Given the description of an element on the screen output the (x, y) to click on. 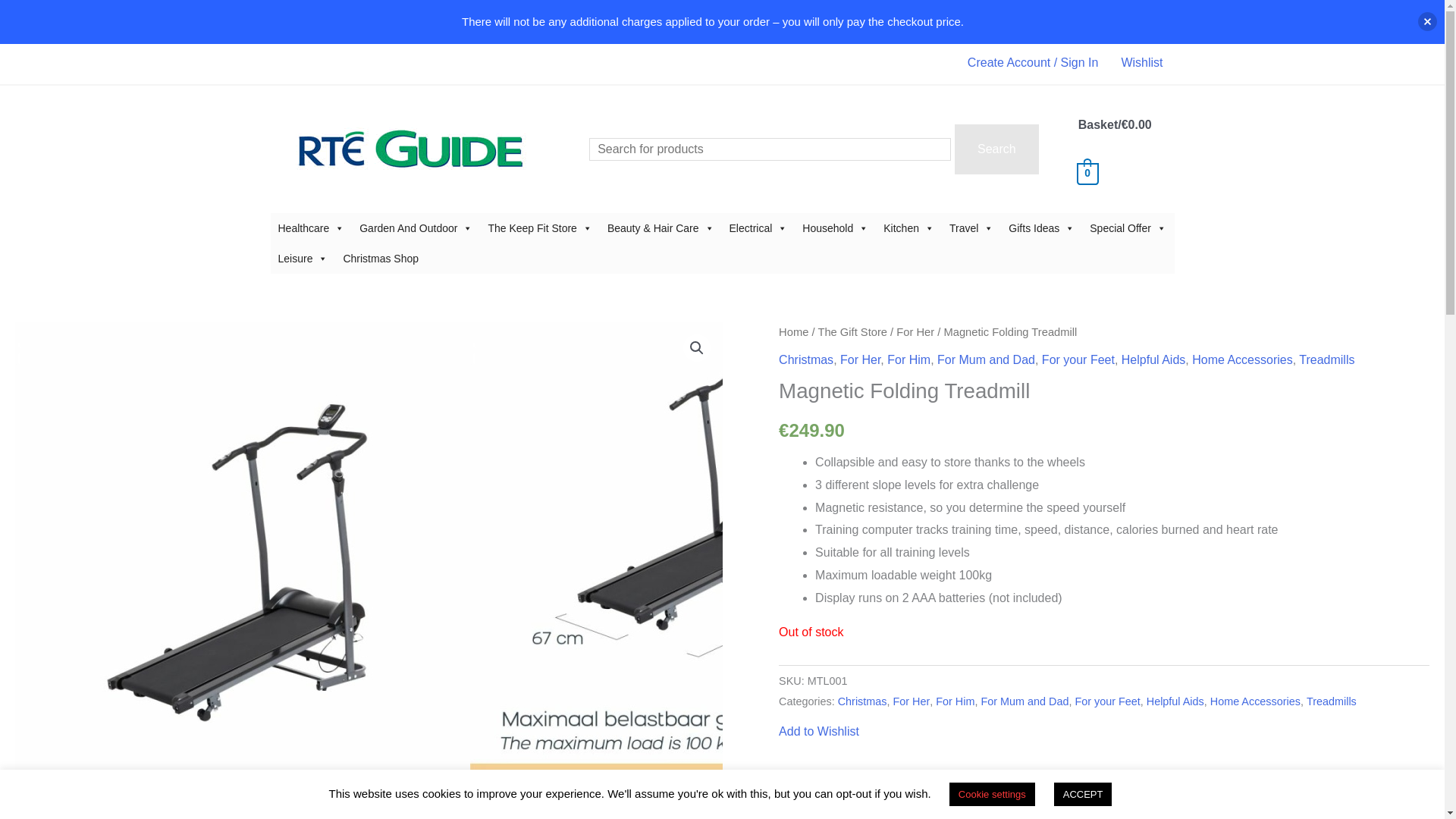
Garden And Outdoor (416, 227)
Search (997, 149)
Search (997, 149)
Healthcare (310, 227)
Wishlist (1141, 62)
Search (997, 149)
